Given the description of an element on the screen output the (x, y) to click on. 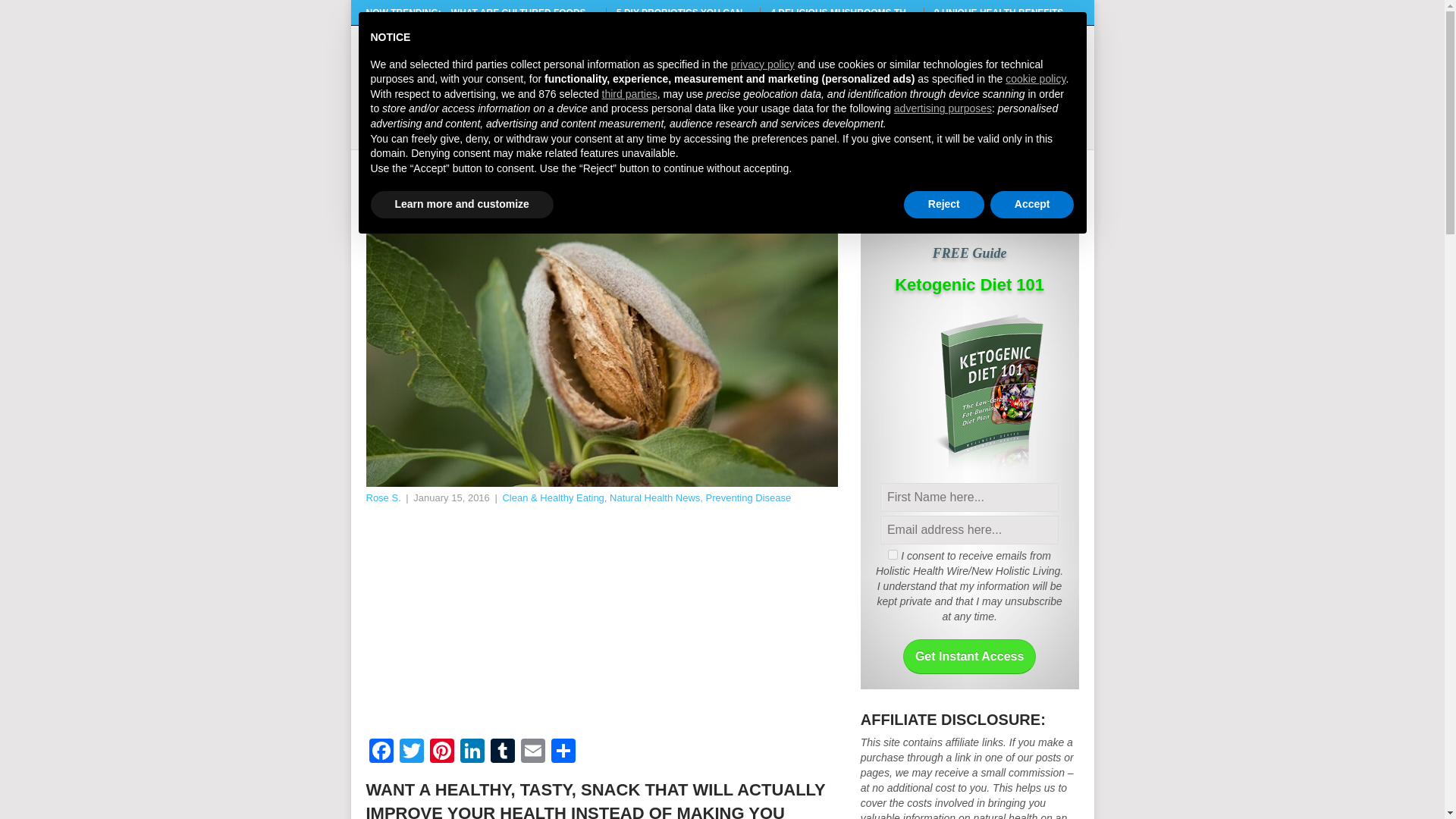
Tumblr (501, 752)
Pinterest (441, 752)
HOLISTIC HEALTH WIRE (553, 56)
Tumblr (501, 752)
Get Instant Access (968, 656)
Email (531, 752)
Twitter (411, 752)
HOME (634, 118)
5 DIY PROBIOTICS YOU CAN... (682, 12)
Facebook (380, 752)
TOPICS (714, 118)
4 Delicious Mushrooms That Support Immune Health (842, 12)
Rose S. (382, 497)
Twitter (411, 752)
9 UNIQUE HEALTH BENEFITS... (1002, 12)
